Given the description of an element on the screen output the (x, y) to click on. 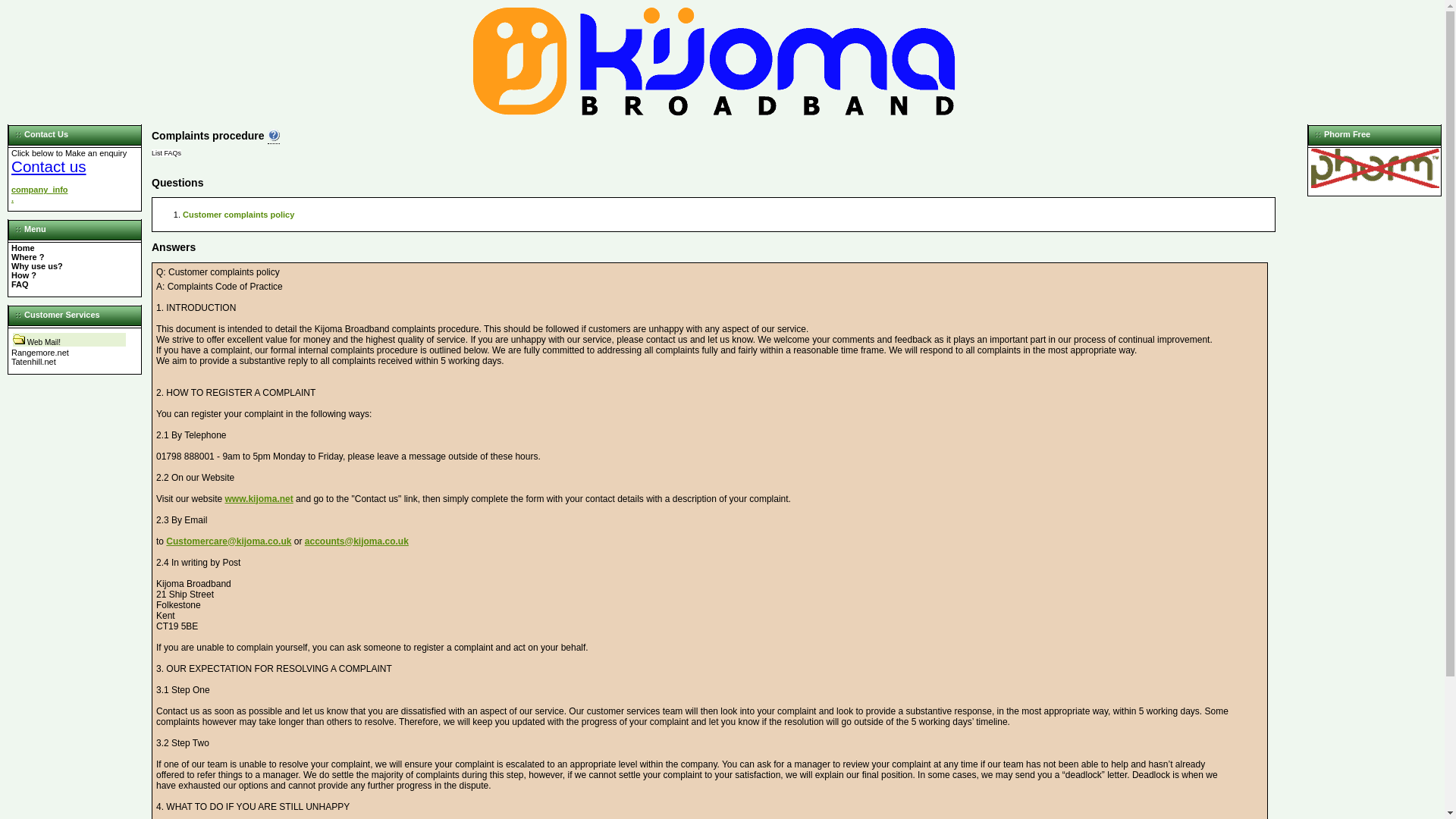
Toggle options (18, 342)
How ? (23, 275)
Customer complaints policy (238, 214)
How to Use FAQs  (273, 137)
Web Mail! (44, 342)
Rangemore.net (39, 352)
FAQ (20, 284)
Complaints procedure (207, 135)
Home (22, 247)
List FAQs (165, 153)
Why use us? (36, 266)
Contact us (48, 166)
Where ? (27, 256)
Phorm Free (1375, 184)
Tatenhill.net (33, 361)
